Given the description of an element on the screen output the (x, y) to click on. 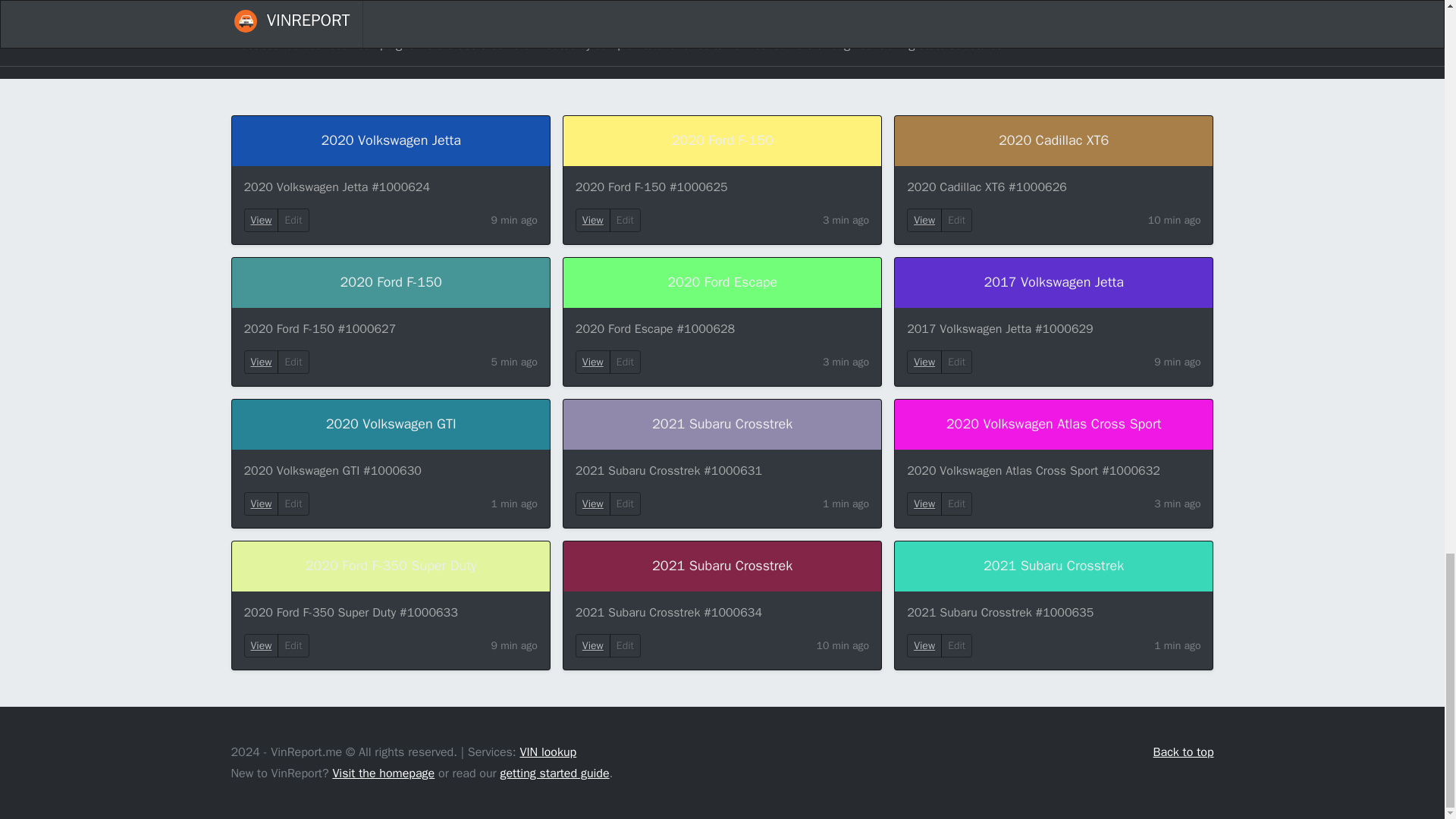
2020 Cadillac XT6 (1053, 141)
View (924, 361)
View (593, 503)
View (593, 219)
2021 Subaru Crosstrek (1053, 566)
View (924, 219)
2020 Volkswagen Jetta (390, 141)
Edit (956, 361)
2020 Volkswagen GTI (390, 424)
View (260, 361)
